Given the description of an element on the screen output the (x, y) to click on. 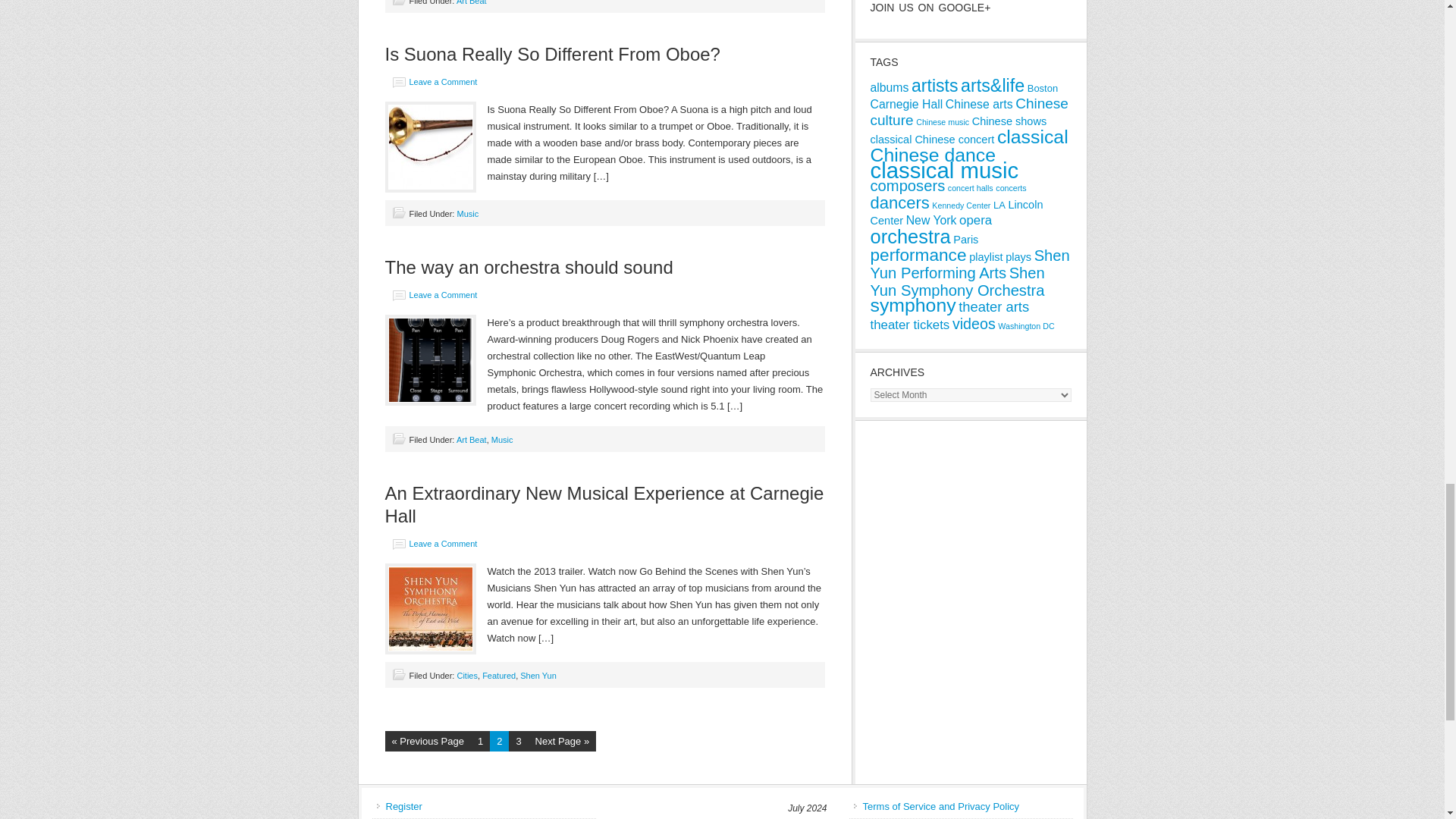
Friday (782, 818)
Wednesday (720, 818)
Thursday (751, 818)
Tuesday (689, 818)
Sunday (627, 818)
Monday (657, 818)
